Given the description of an element on the screen output the (x, y) to click on. 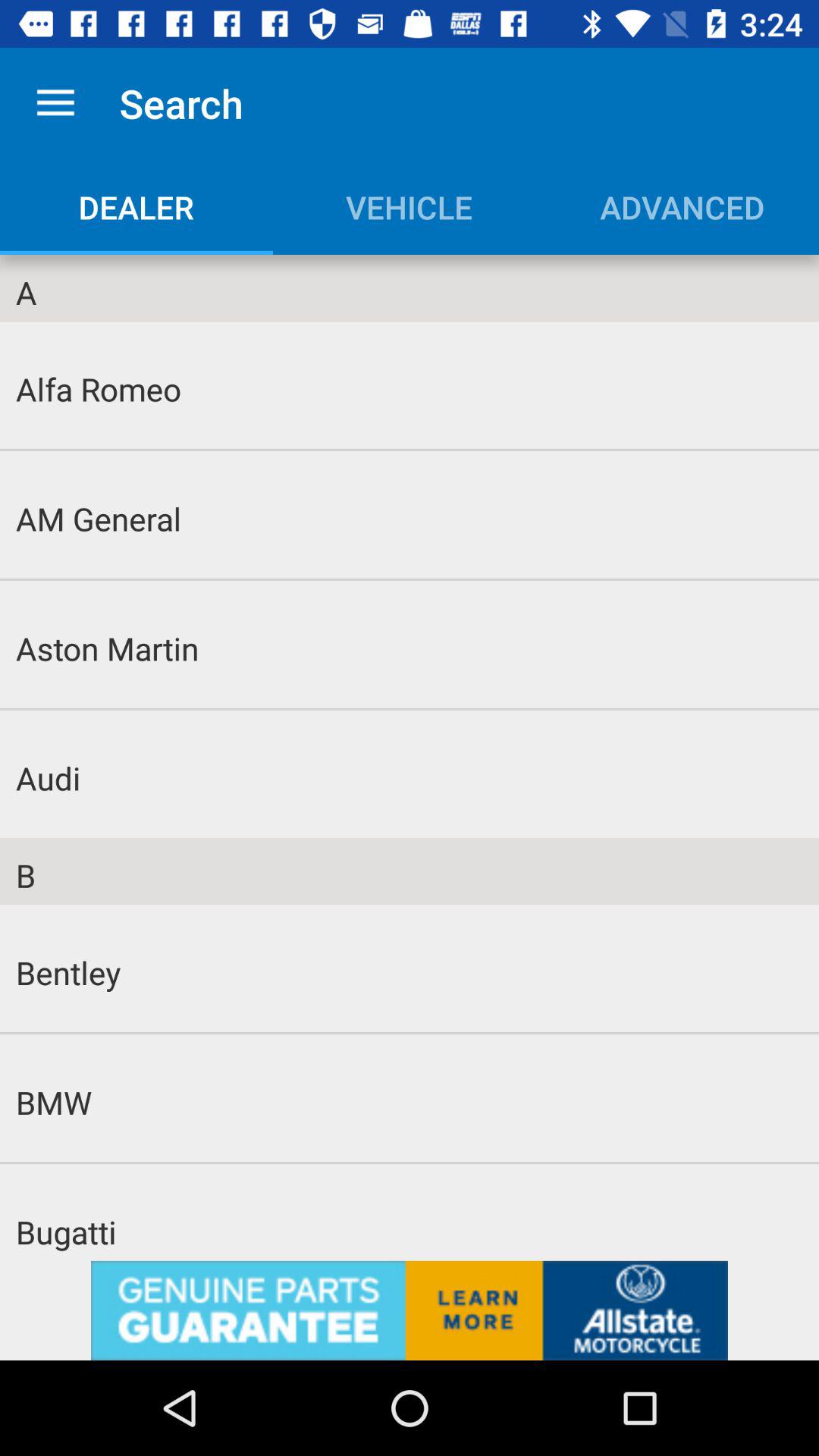
go to advertisement (409, 1310)
